Given the description of an element on the screen output the (x, y) to click on. 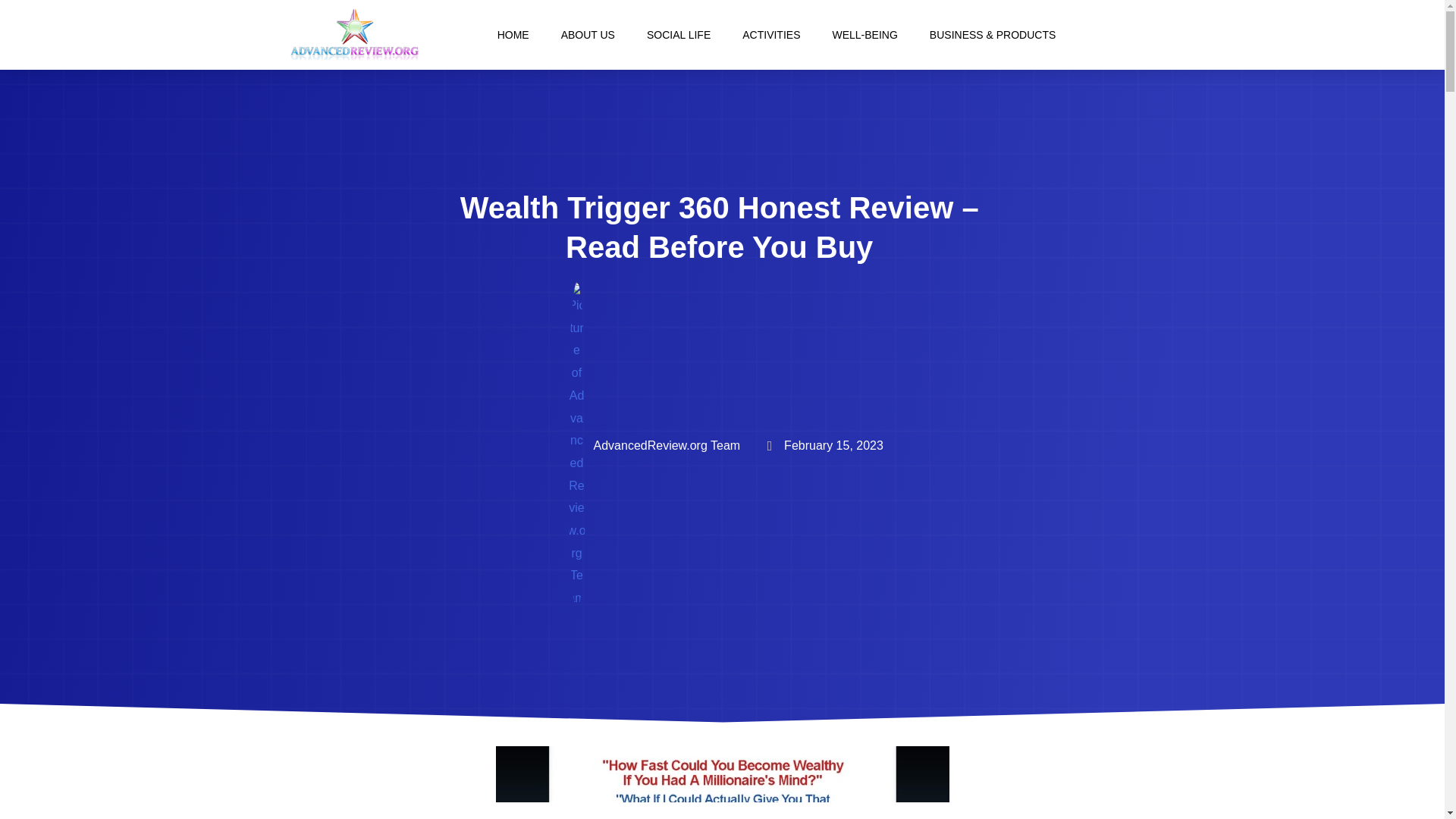
ACTIVITIES (770, 34)
SOCIAL LIFE (678, 34)
HOME (512, 34)
ABOUT US (588, 34)
WELL-BEING (864, 34)
